Given the description of an element on the screen output the (x, y) to click on. 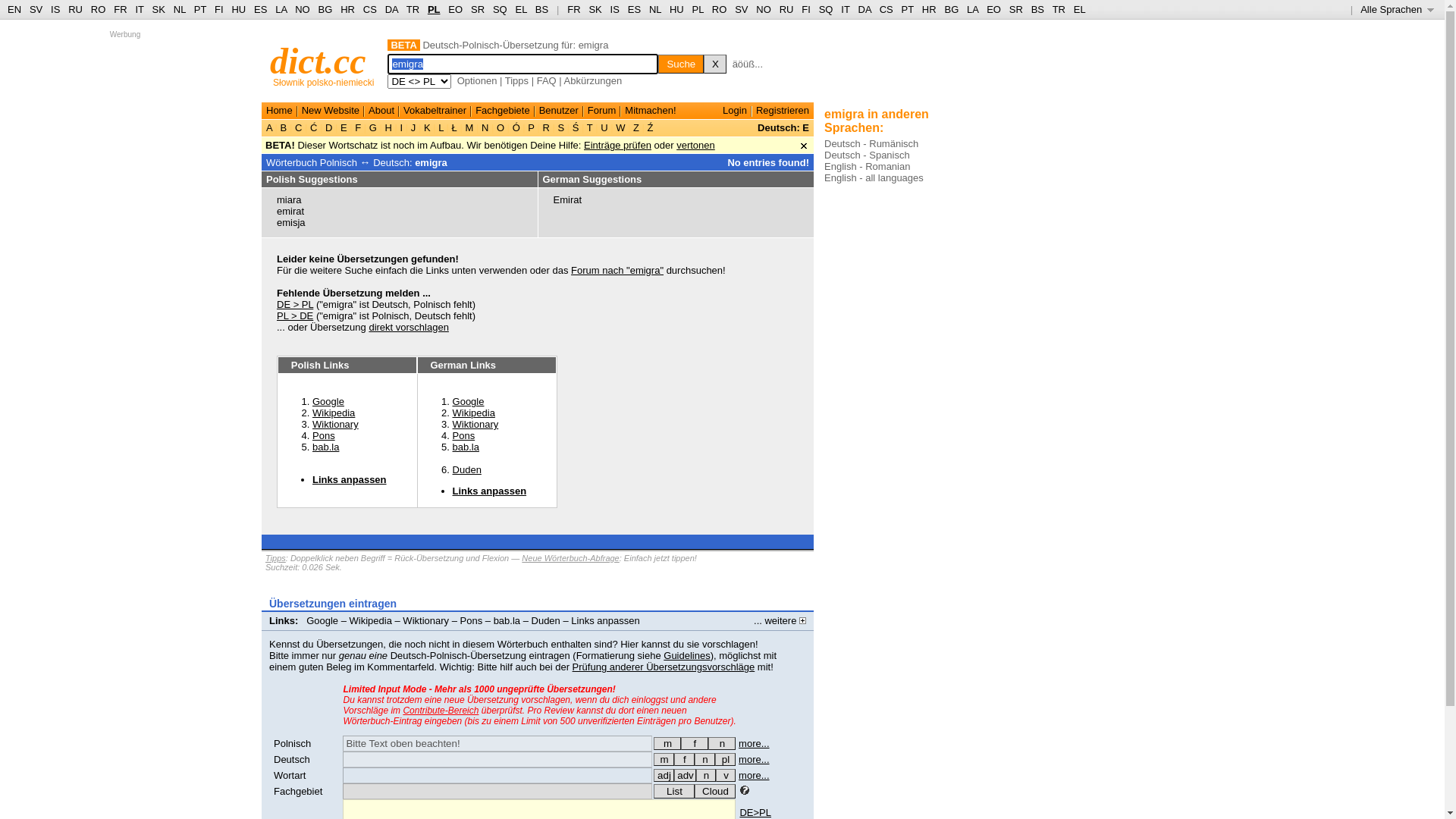
English - Romanian Element type: text (867, 166)
BG Element type: text (325, 9)
HU Element type: text (676, 9)
FI Element type: text (218, 9)
R Element type: text (545, 127)
LA Element type: text (280, 9)
About Element type: text (381, 110)
adj Element type: text (663, 774)
emisja Element type: text (290, 222)
IT Element type: text (138, 9)
TR Element type: text (412, 9)
Google Element type: text (468, 401)
CS Element type: text (886, 9)
Pons Element type: text (471, 620)
Wikipedia Element type: text (333, 412)
SK Element type: text (158, 9)
Alle Sprachen  Element type: text (1397, 9)
Z Element type: text (635, 127)
M Element type: text (469, 127)
PL Element type: text (697, 9)
bab.la Element type: text (325, 446)
Polnisch Element type: text (291, 743)
v Element type: text (725, 774)
ES Element type: text (633, 9)
Mitmachen! Element type: text (649, 110)
G Element type: text (372, 127)
TR Element type: text (1058, 9)
emirat Element type: text (290, 210)
FR Element type: text (573, 9)
X Element type: text (714, 63)
FAQ Element type: text (546, 80)
Tipps Element type: text (516, 80)
... weitere Element type: text (779, 620)
L Element type: text (441, 127)
New Website Element type: text (330, 110)
BS Element type: text (1037, 9)
SR Element type: text (477, 9)
FR Element type: text (119, 9)
DA Element type: text (864, 9)
H Element type: text (388, 127)
Links anpassen Element type: text (489, 490)
Login Element type: text (734, 110)
DE > PL Element type: text (294, 304)
HR Element type: text (347, 9)
B Element type: text (283, 127)
f Element type: text (694, 743)
vertonen Element type: text (695, 144)
Wiktionary Element type: text (335, 423)
IS Element type: text (54, 9)
C Element type: text (297, 127)
S Element type: text (561, 127)
more... Element type: text (753, 743)
Registrieren Element type: text (782, 110)
m Element type: text (666, 743)
RO Element type: text (719, 9)
f Element type: text (684, 759)
RO Element type: text (98, 9)
Home Element type: text (279, 110)
Emirat Element type: text (567, 199)
more... Element type: text (753, 759)
Forum nach "emigra" Element type: text (617, 270)
NL Element type: text (179, 9)
FI Element type: text (805, 9)
Wikipedia Element type: text (473, 412)
miara Element type: text (288, 199)
NO Element type: text (302, 9)
ES Element type: text (260, 9)
Pons Element type: text (323, 435)
DA Element type: text (391, 9)
NL Element type: text (655, 9)
Vokabeltrainer Element type: text (434, 110)
Duden Element type: text (545, 620)
Deutsch - Spanisch Element type: text (867, 154)
LA Element type: text (972, 9)
E Element type: text (343, 127)
Forum Element type: text (601, 110)
Deutsch: E Element type: text (783, 127)
PT Element type: text (200, 9)
Cloud Element type: text (714, 791)
more... Element type: text (753, 775)
IS Element type: text (614, 9)
Deutsch Element type: text (291, 759)
SV Element type: text (35, 9)
adv Element type: text (685, 774)
n Element type: text (721, 743)
T Element type: text (589, 127)
EL Element type: text (1079, 9)
pl Element type: text (725, 759)
Google Element type: text (328, 401)
bab.la Element type: text (506, 620)
HU Element type: text (238, 9)
Duden Element type: text (466, 469)
List Element type: text (673, 791)
die - Mehrzahl (Plural) Element type: hover (725, 759)
K Element type: text (426, 127)
DE>PL Element type: text (755, 812)
SK Element type: text (594, 9)
I Element type: text (401, 127)
dict.cc Element type: text (317, 60)
Suche Element type: text (680, 63)
Optionen Element type: text (477, 80)
bab.la Element type: text (465, 446)
BS Element type: text (541, 9)
EO Element type: text (455, 9)
Google Element type: text (322, 620)
P Element type: text (531, 127)
EL Element type: text (521, 9)
N Element type: text (484, 127)
Contribute-Bereich Element type: text (440, 710)
NO Element type: text (763, 9)
F Element type: text (358, 127)
PL > DE Element type: text (294, 315)
O Element type: text (499, 127)
Pons Element type: text (463, 435)
EN Element type: text (14, 9)
SR Element type: text (1015, 9)
direkt vorschlagen Element type: text (408, 326)
n Element type: text (705, 774)
A Element type: text (270, 127)
IT Element type: text (844, 9)
PL Element type: text (433, 9)
BG Element type: text (951, 9)
W Element type: text (620, 127)
CS Element type: text (369, 9)
Wiktionary Element type: text (475, 423)
Wikipedia Element type: text (370, 620)
English - all languages Element type: text (873, 177)
Benutzer Element type: text (558, 110)
Fachgebiete Element type: text (502, 110)
m Element type: text (663, 759)
SV Element type: text (740, 9)
SQ Element type: text (826, 9)
RU Element type: text (786, 9)
D Element type: text (328, 127)
PT Element type: text (907, 9)
Links anpassen Element type: text (349, 479)
J Element type: text (412, 127)
HR Element type: text (929, 9)
n Element type: text (704, 759)
Links anpassen Element type: text (605, 620)
die - weiblich (Femininum) Element type: hover (684, 759)
Wiktionary Element type: text (425, 620)
U Element type: text (604, 127)
Tipps Element type: text (275, 557)
emigra Element type: text (430, 162)
Guidelines Element type: text (686, 655)
rodzaju nijakiego Element type: hover (721, 743)
RU Element type: text (75, 9)
SQ Element type: text (499, 9)
EO Element type: text (993, 9)
